Given the description of an element on the screen output the (x, y) to click on. 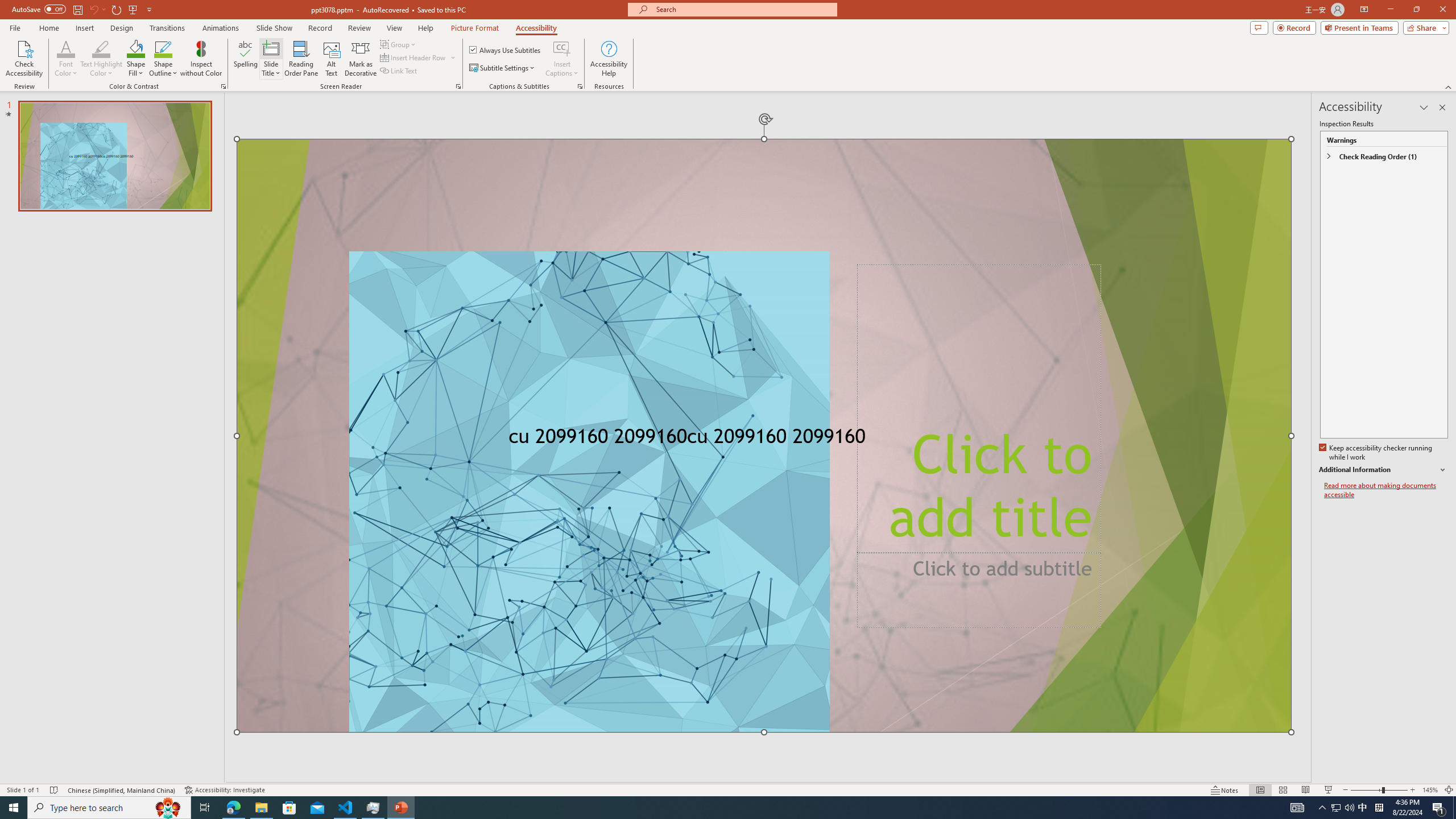
Subtitle Settings (502, 67)
Group (398, 44)
Screen Reader (458, 85)
